Given the description of an element on the screen output the (x, y) to click on. 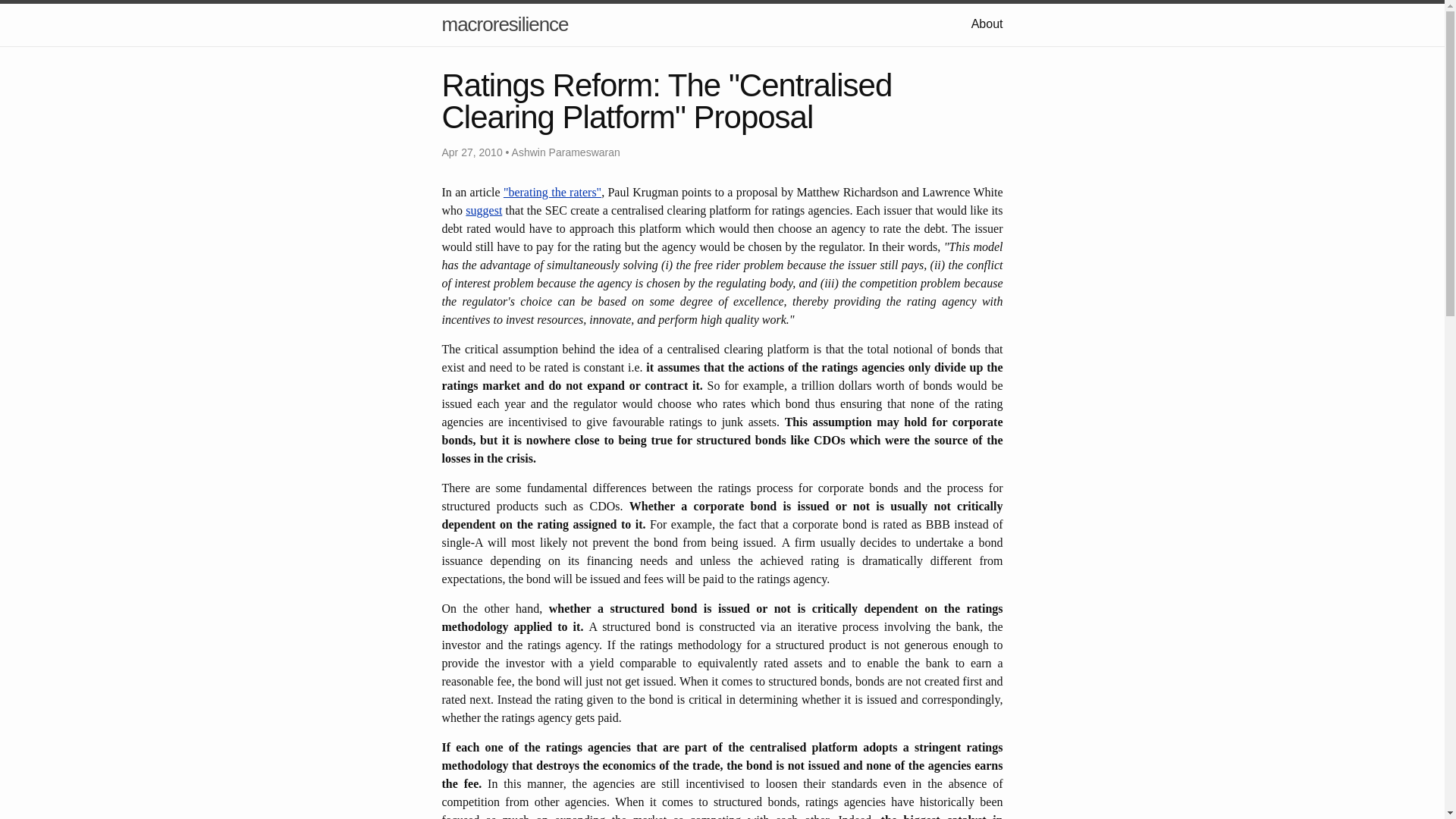
"berating the raters" (552, 192)
About (987, 23)
macroresilience (504, 24)
suggest (483, 210)
